Given the description of an element on the screen output the (x, y) to click on. 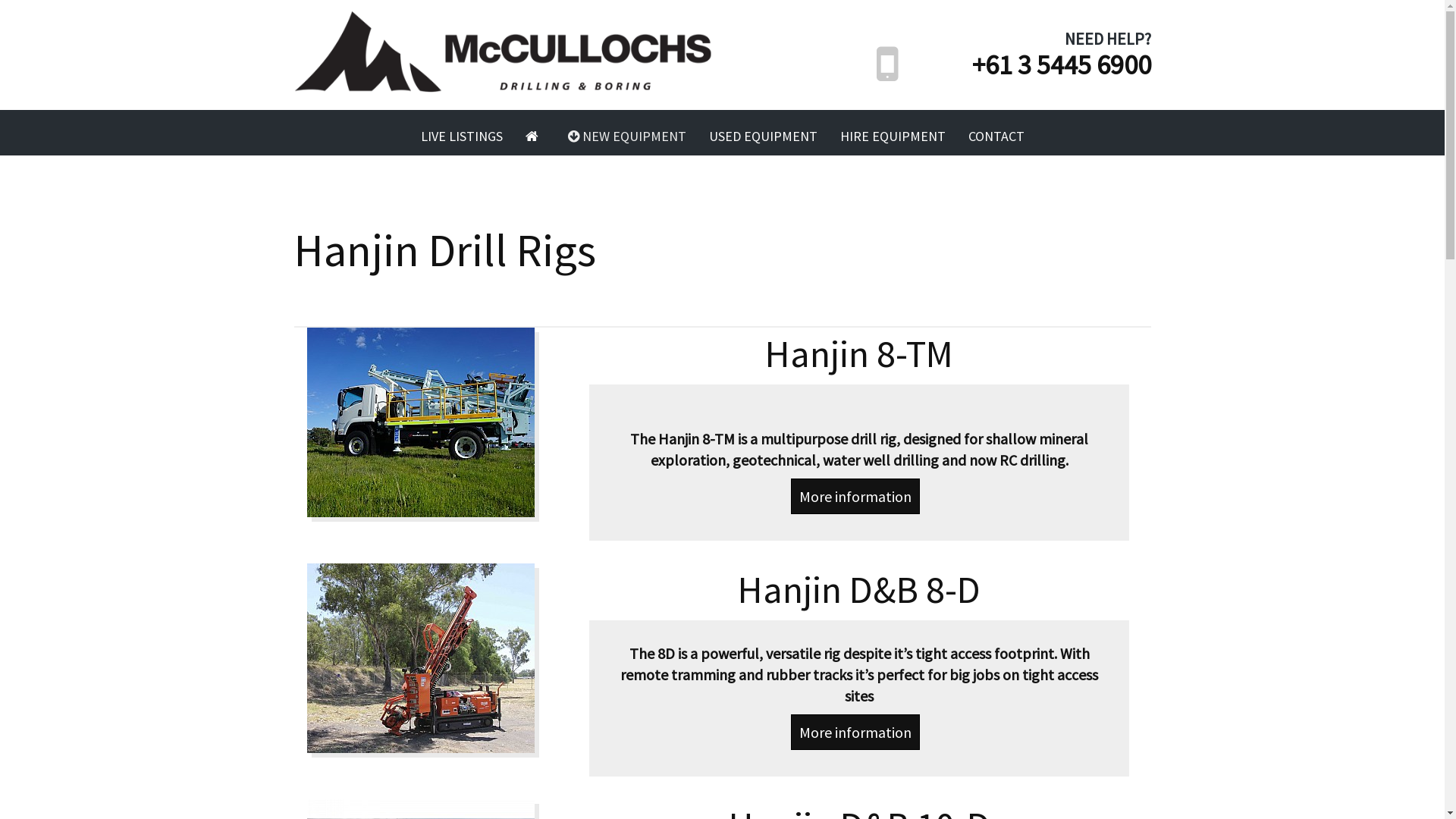
+61 3 5445 6900 Element type: text (1061, 64)
HIRE EQUIPMENT Element type: text (892, 136)
USED EQUIPMENT Element type: text (762, 136)
Hanjin 8-TM Element type: hover (435, 422)
Hanjin 8-TM Element type: text (859, 353)
NEW EQUIPMENT Element type: text (626, 136)
More information Element type: text (854, 731)
CONTACT Element type: text (996, 136)
More information Element type: text (854, 496)
Hanjin D&B 8-D Element type: text (858, 589)
LIVE LISTINGS Element type: text (461, 136)
Hanjin D&B 8-D Element type: hover (435, 658)
